Given the description of an element on the screen output the (x, y) to click on. 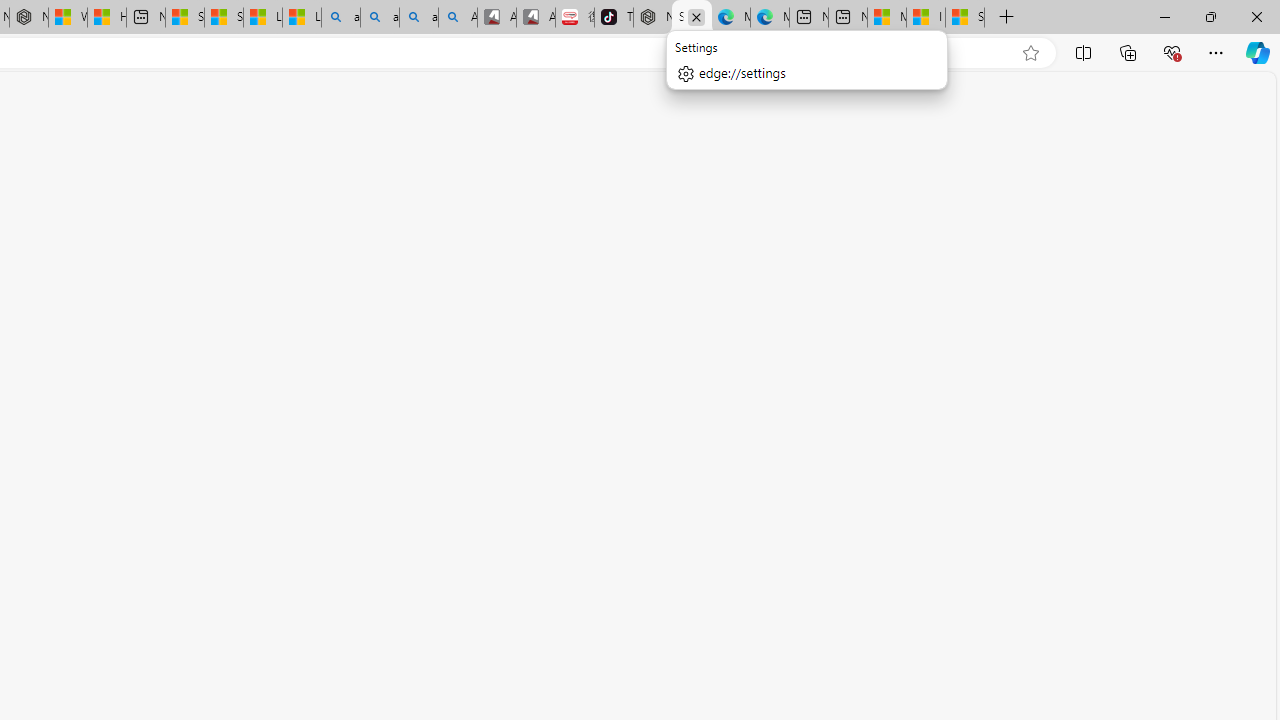
TikTok (614, 17)
